Given the description of an element on the screen output the (x, y) to click on. 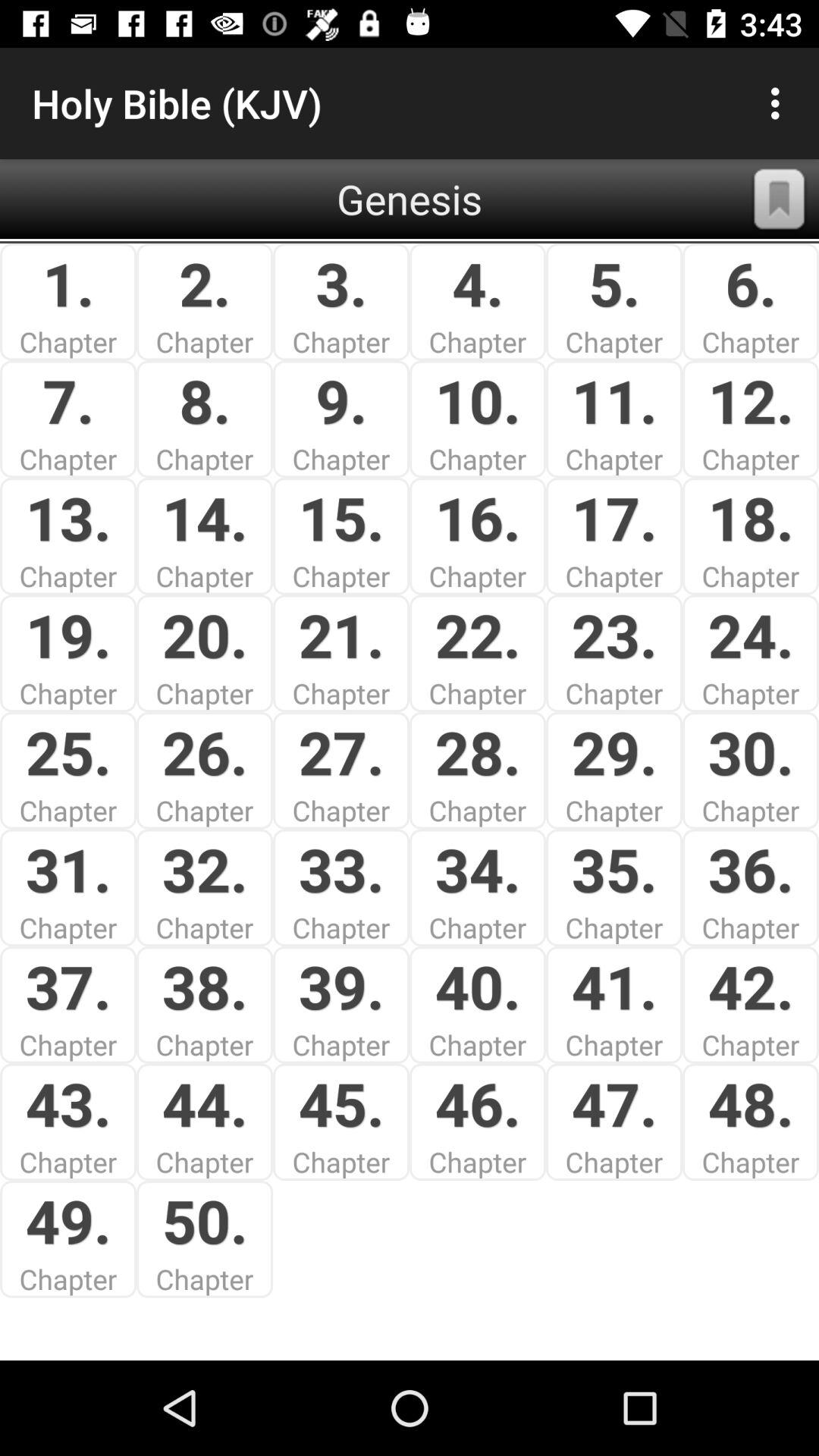
click on button next to genesis (779, 198)
